Given the description of an element on the screen output the (x, y) to click on. 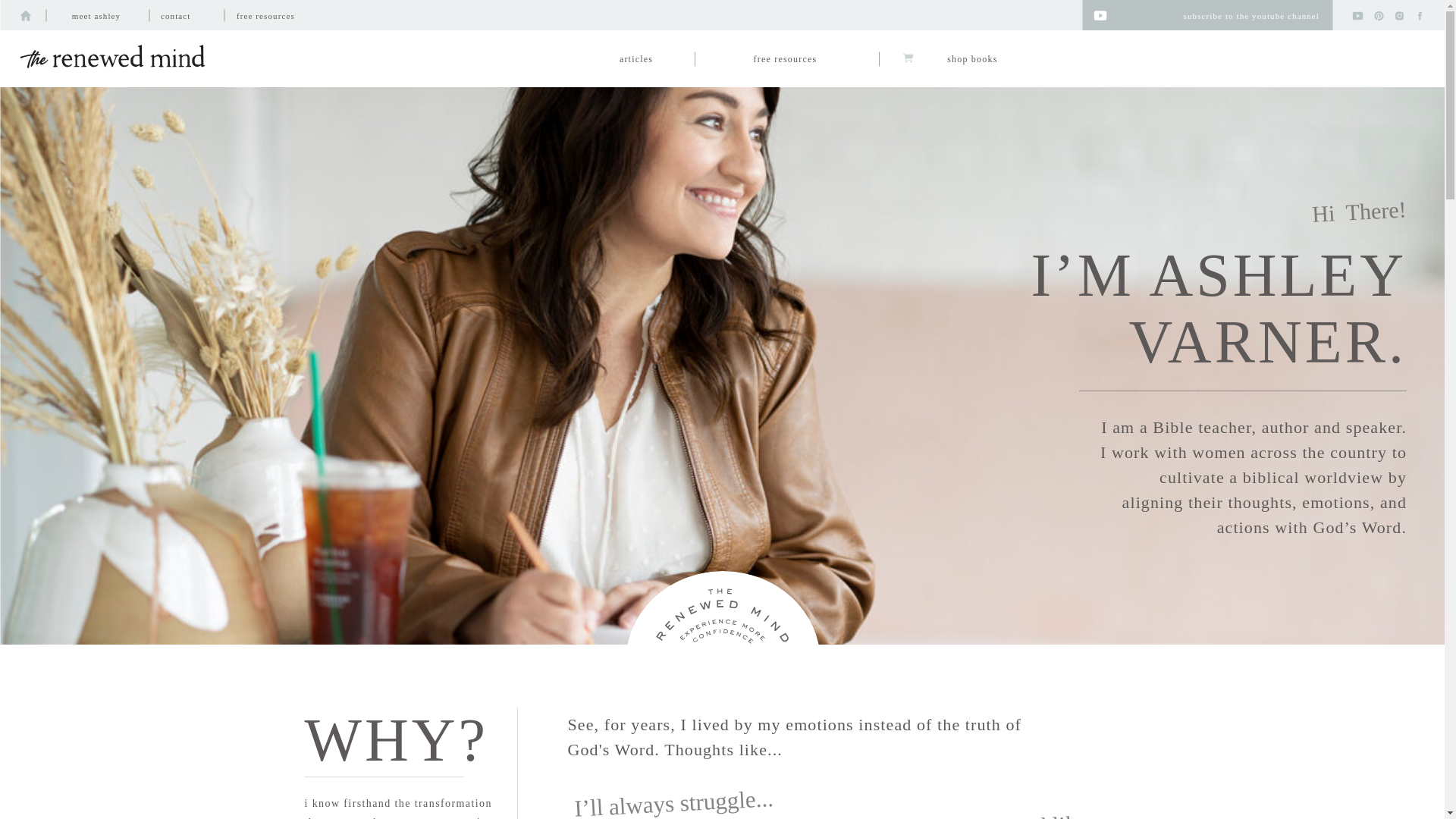
contact (185, 15)
free resources (284, 15)
shop books (957, 58)
meet ashley (96, 15)
free resources (785, 58)
articles (635, 58)
subscribe to the youtube channel (1212, 15)
